Given the description of an element on the screen output the (x, y) to click on. 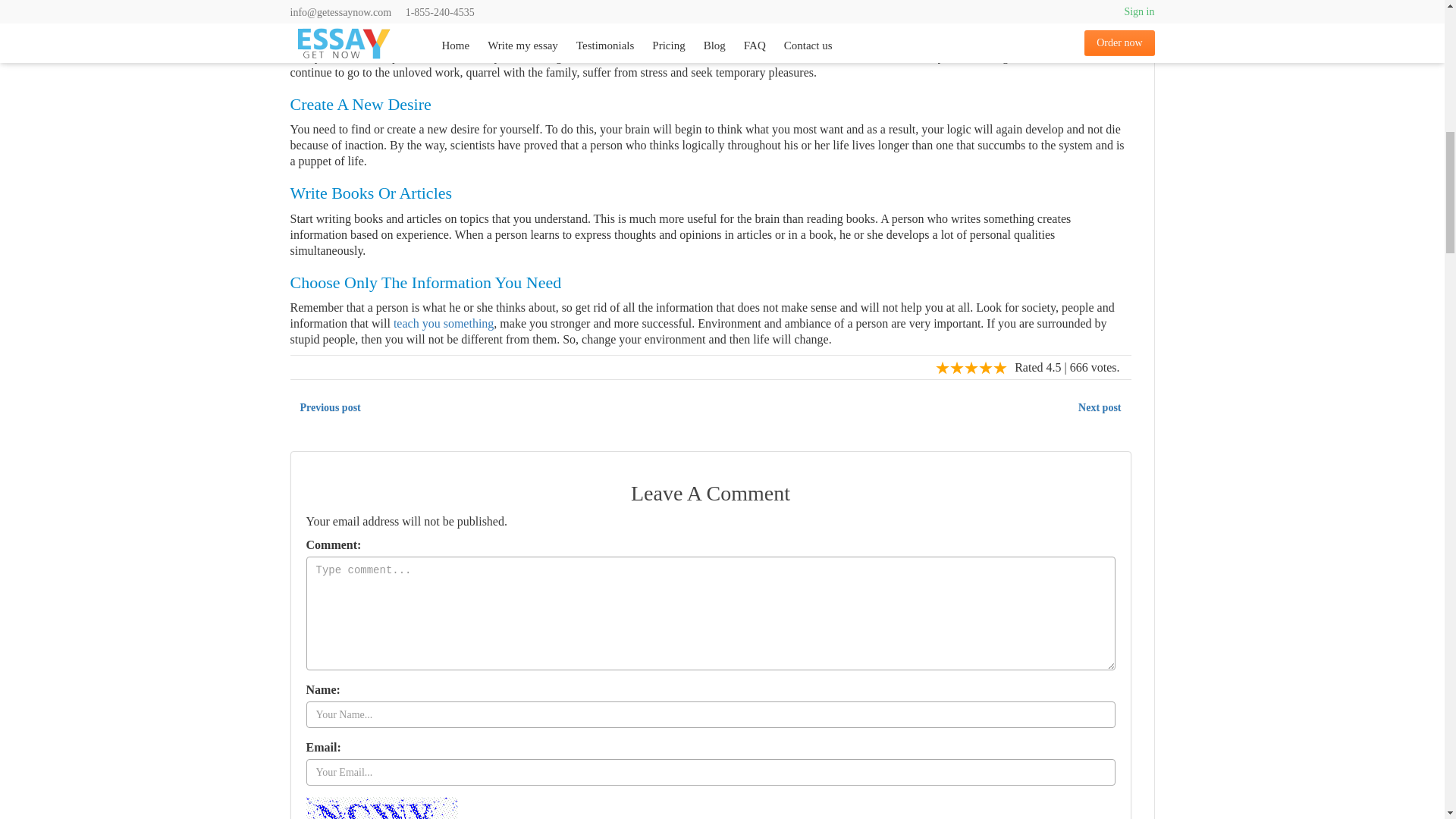
Previous post (329, 407)
teach you something (443, 323)
Next post (1099, 407)
